Given the description of an element on the screen output the (x, y) to click on. 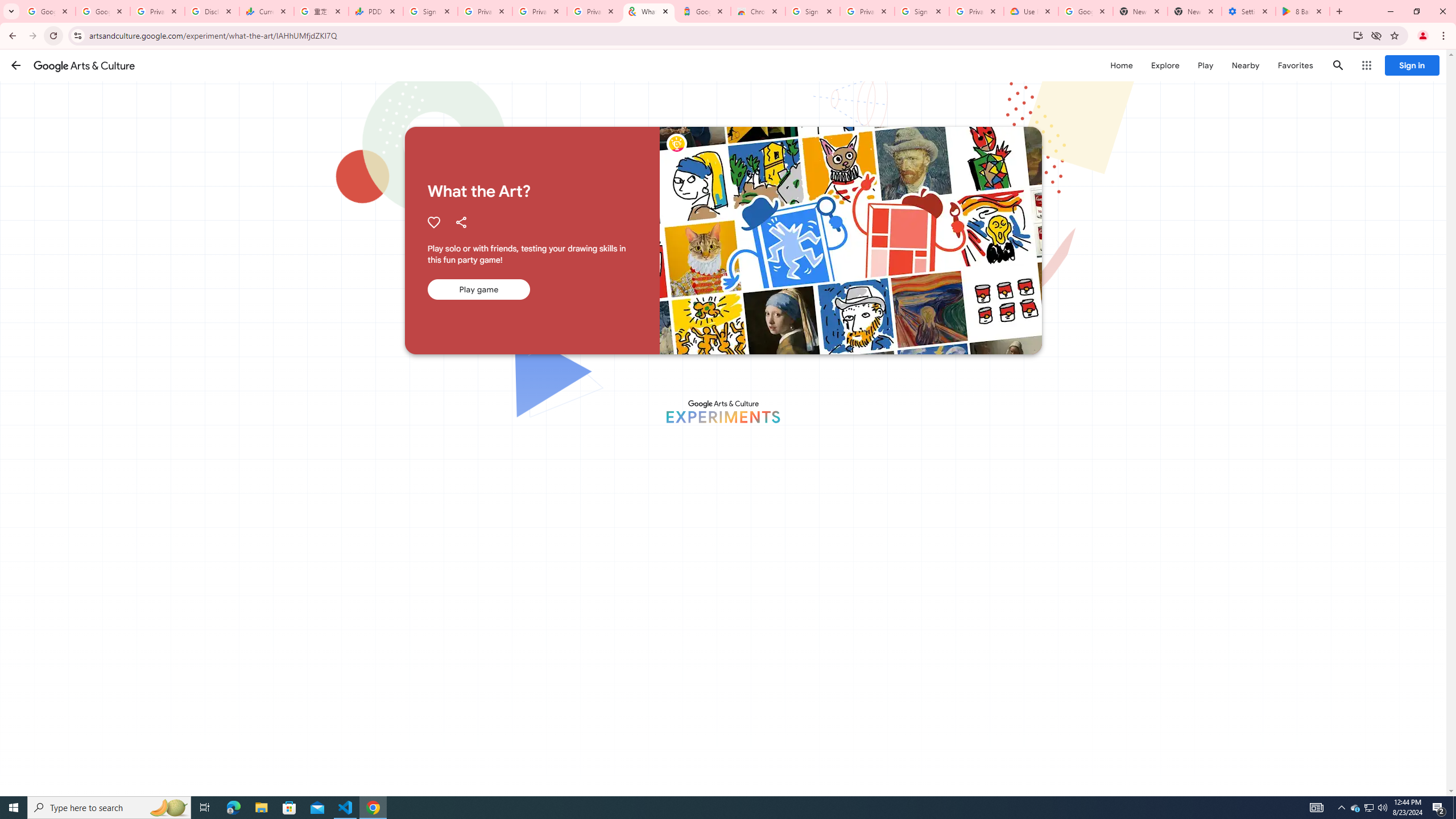
Sign in - Google Accounts (430, 11)
Favorites (1295, 65)
Explore (1164, 65)
Share "What the Art?" (460, 221)
Currencies - Google Finance (266, 11)
Quit Game (1423, 71)
